Given the description of an element on the screen output the (x, y) to click on. 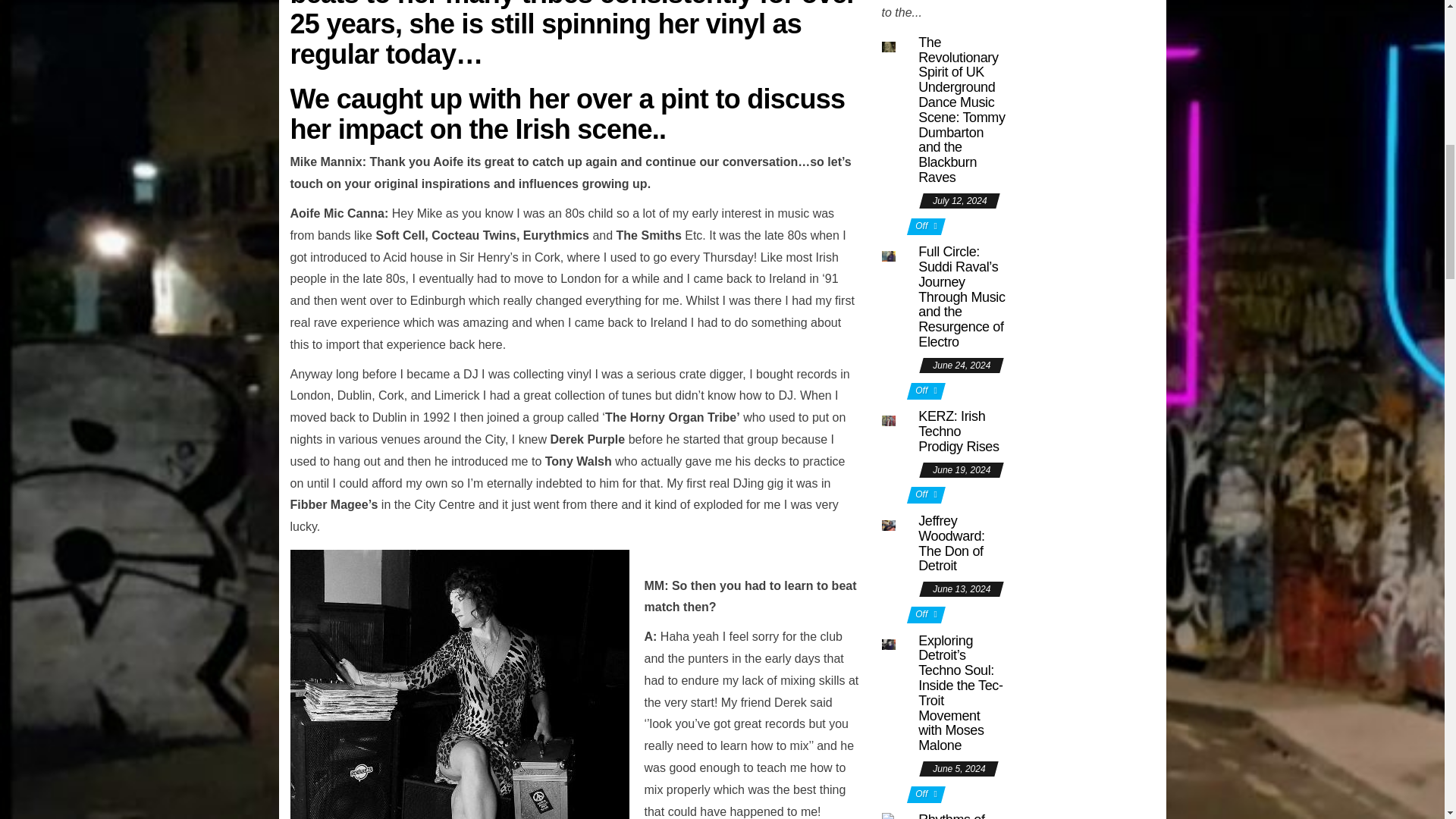
KERZ: Irish Techno Prodigy Rises (958, 431)
KERZ: Irish Techno Prodigy Rises (887, 419)
